Given the description of an element on the screen output the (x, y) to click on. 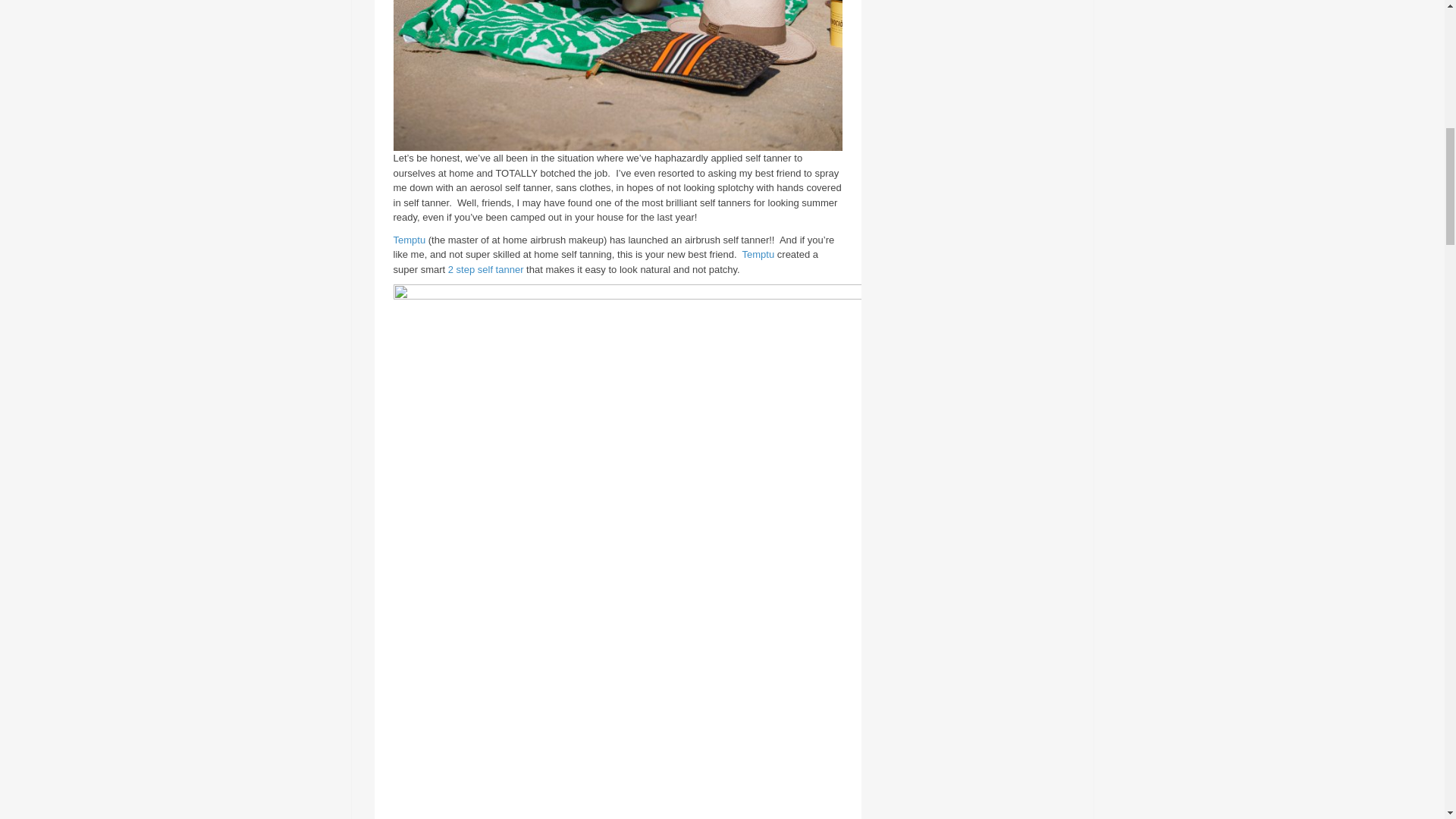
2 step self tanner (486, 269)
Temptu (409, 239)
Temptu (758, 254)
